Given the description of an element on the screen output the (x, y) to click on. 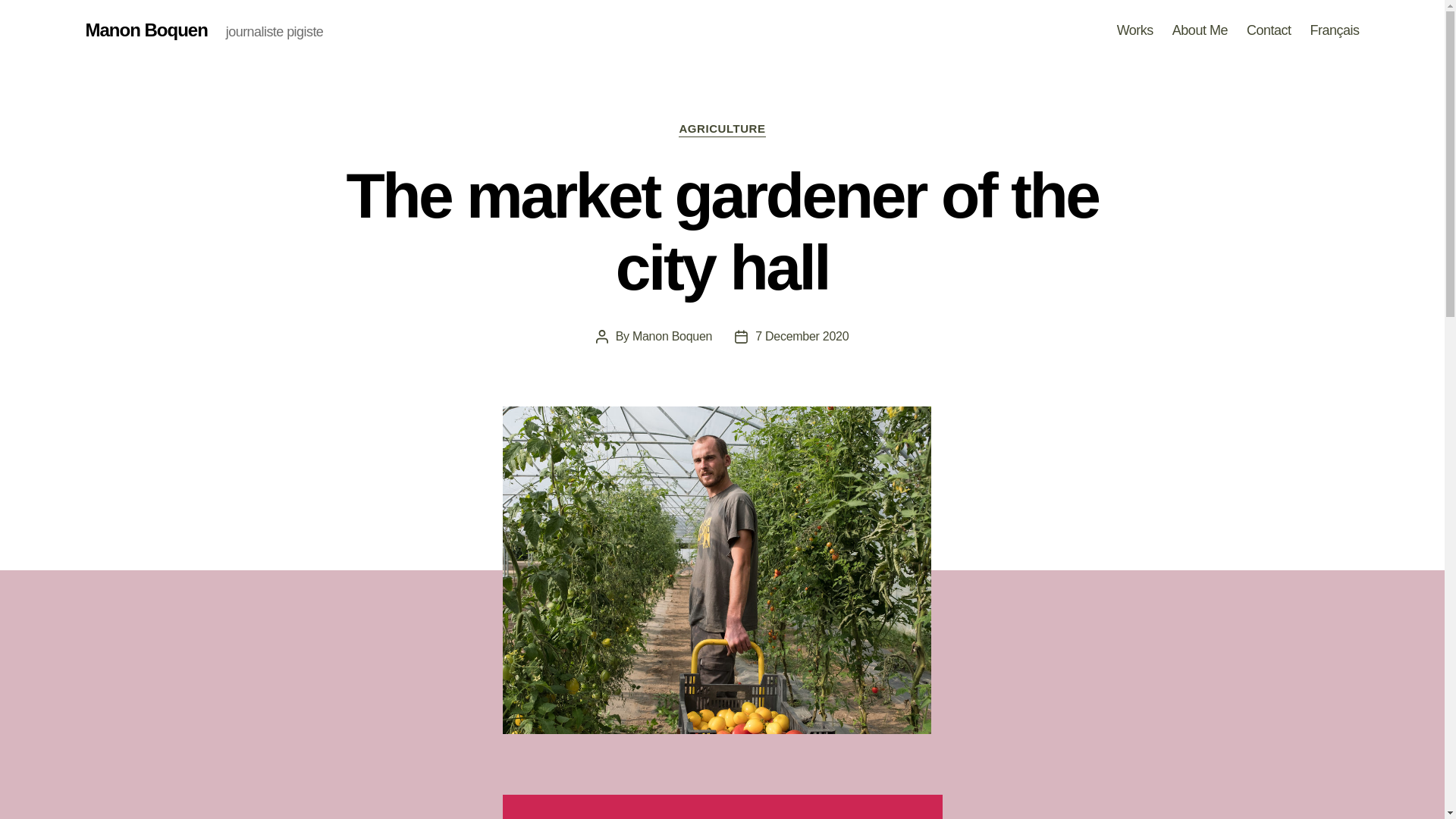
AGRICULTURE (721, 129)
Contact (1268, 30)
Works (1134, 30)
Manon Boquen (671, 336)
About Me (1199, 30)
Manon Boquen (145, 30)
7 December 2020 (801, 336)
